Given the description of an element on the screen output the (x, y) to click on. 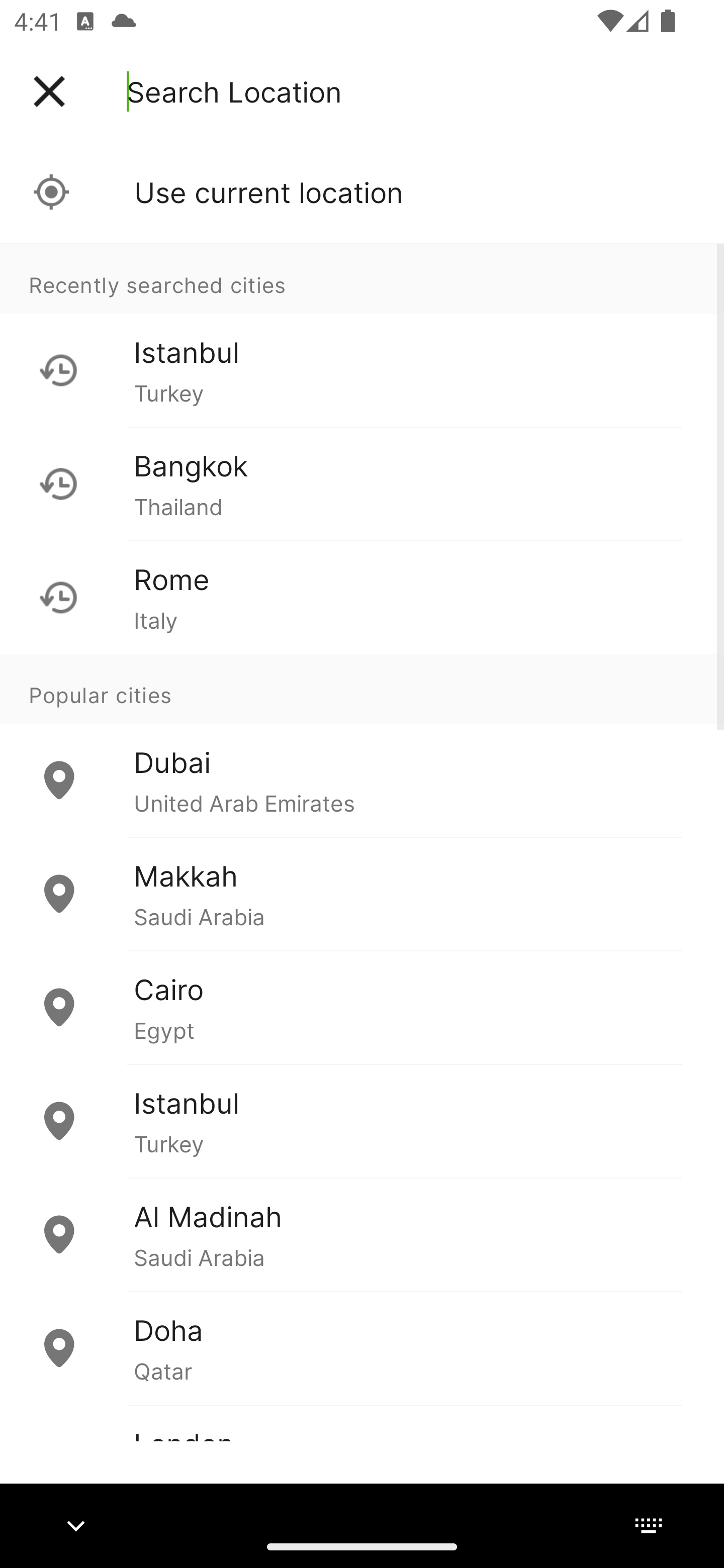
Search Location (234, 91)
Use current location (362, 192)
Recently searched cities Istanbul Turkey (362, 334)
Recently searched cities (362, 278)
Bangkok Thailand (362, 483)
Rome Italy (362, 596)
Popular cities Dubai United Arab Emirates (362, 745)
Popular cities (362, 688)
Makkah Saudi Arabia (362, 893)
Cairo Egypt (362, 1007)
Istanbul Turkey (362, 1120)
Al Madinah Saudi Arabia (362, 1233)
Doha Qatar (362, 1347)
